Given the description of an element on the screen output the (x, y) to click on. 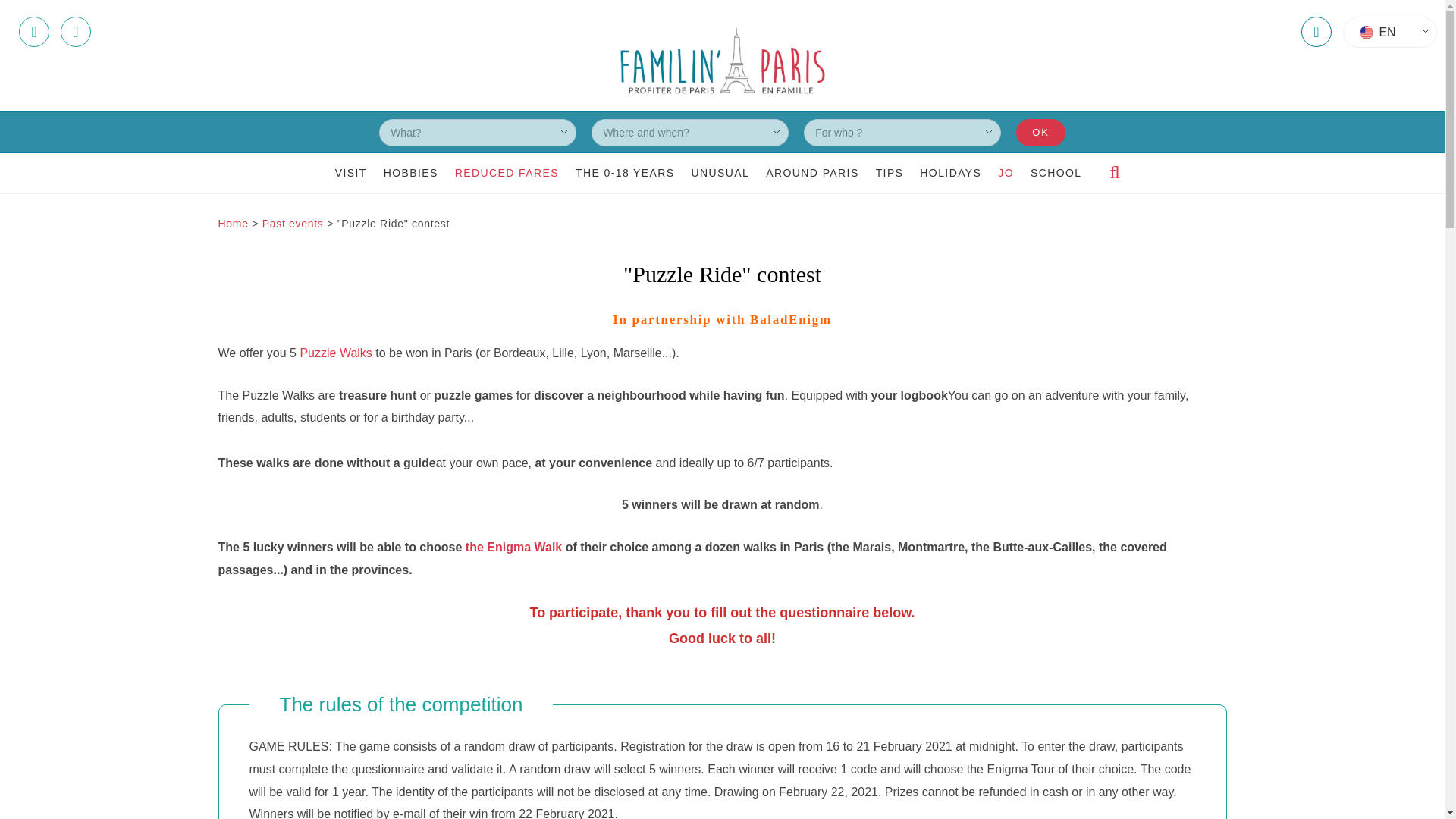
English (1366, 32)
OK (1040, 132)
EN (1389, 31)
Familin'Paris (722, 61)
English (1389, 31)
VISIT (347, 173)
